Given the description of an element on the screen output the (x, y) to click on. 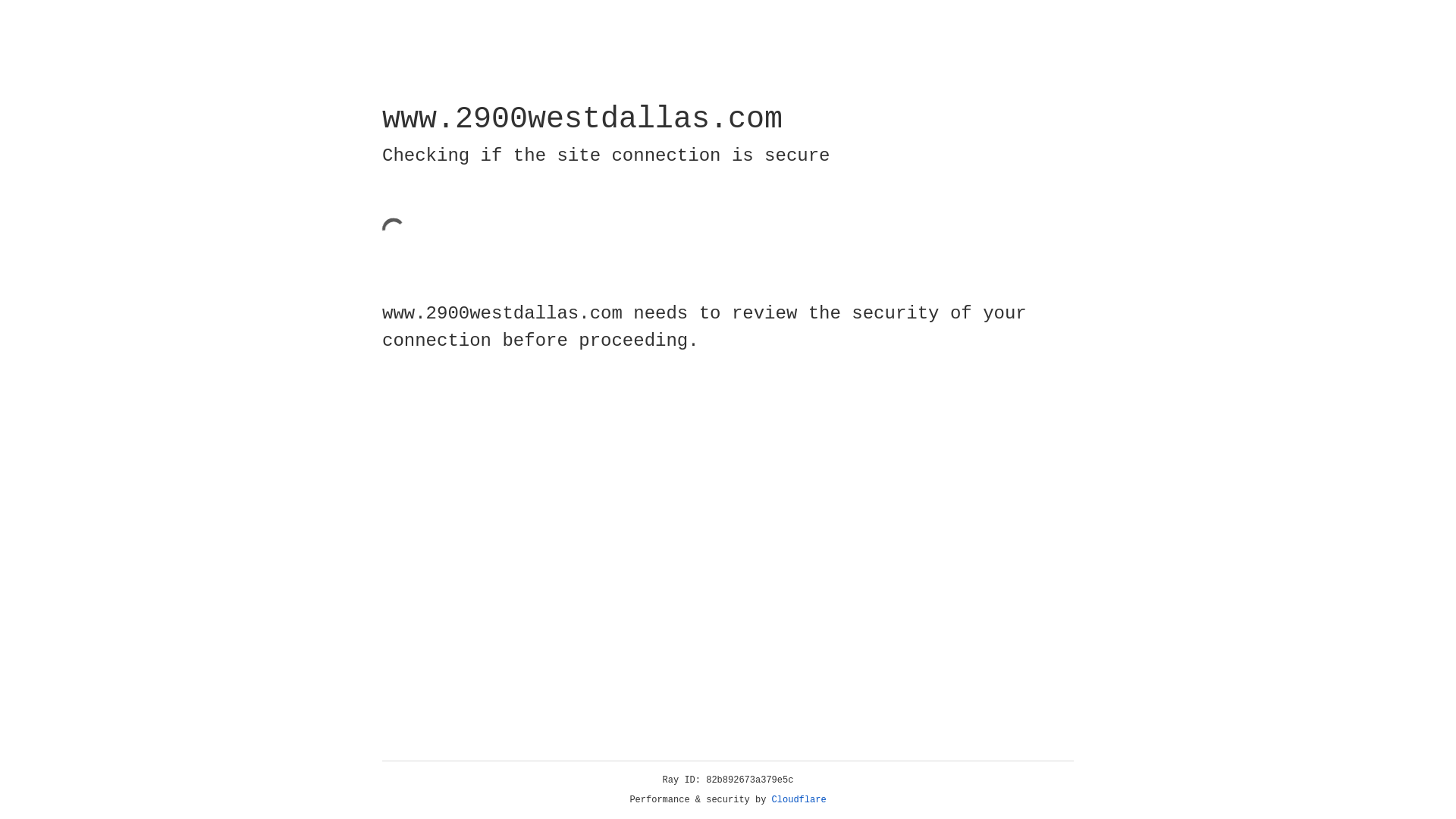
Cloudflare Element type: text (798, 799)
